Given the description of an element on the screen output the (x, y) to click on. 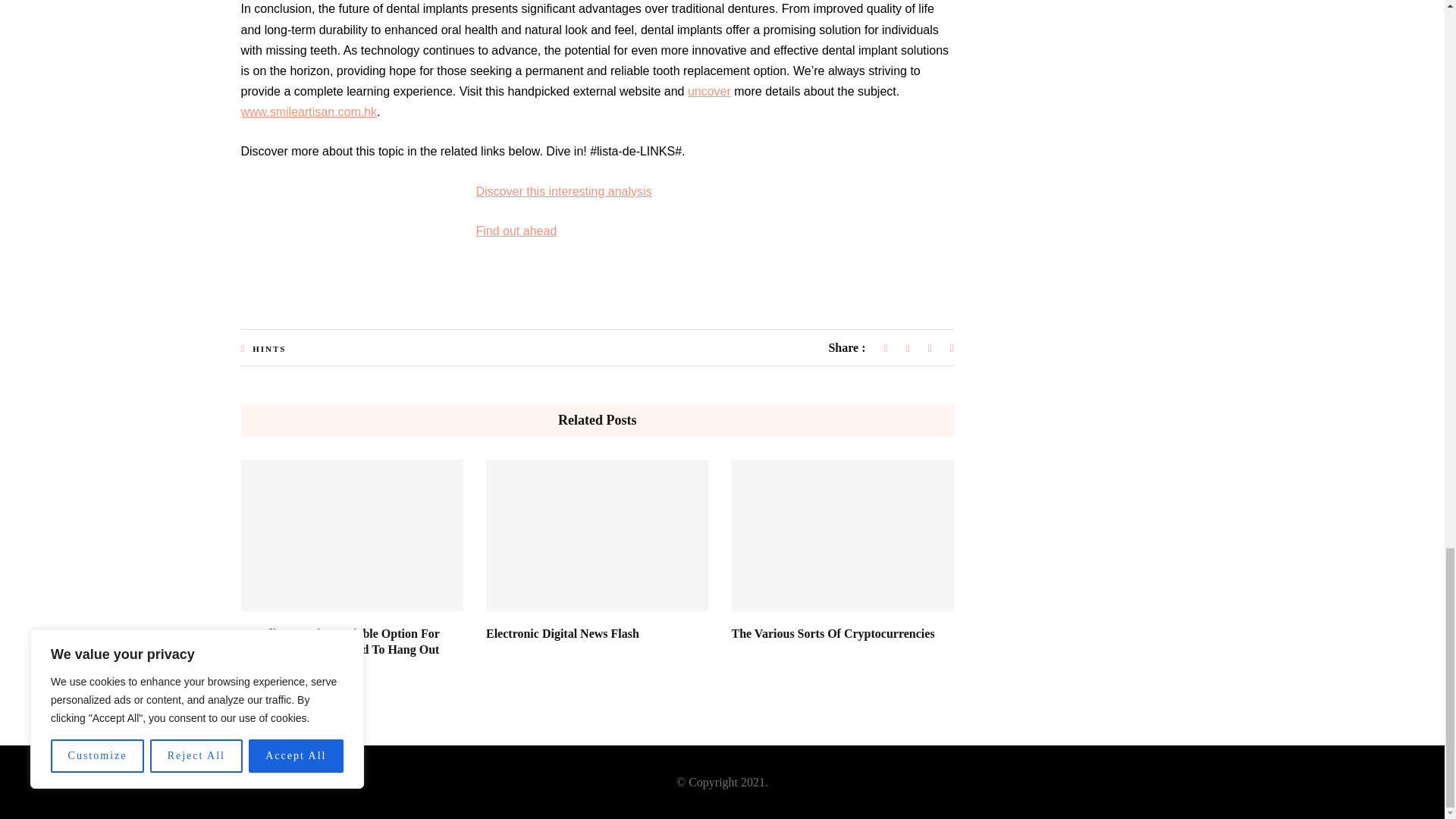
HINTS (268, 347)
Discover this interesting analysis (564, 191)
Find out ahead (516, 230)
Electronic Digital News Flash (562, 633)
uncover (708, 91)
www.smileartisan.com.hk (309, 111)
